Given the description of an element on the screen output the (x, y) to click on. 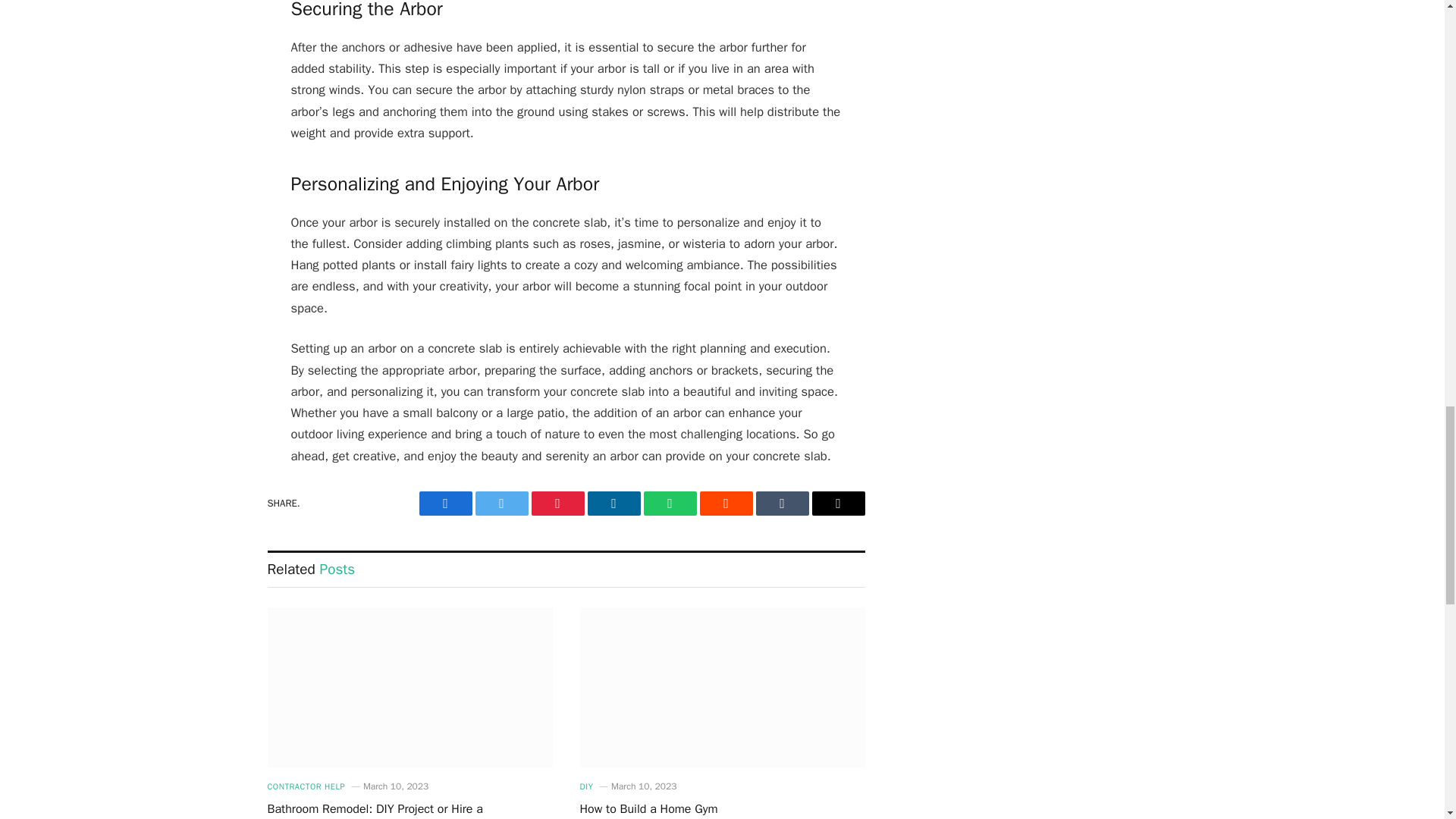
Pinterest (557, 503)
Reddit (725, 503)
Twitter (500, 503)
WhatsApp (669, 503)
LinkedIn (613, 503)
Tumblr (781, 503)
Facebook (445, 503)
